Given the description of an element on the screen output the (x, y) to click on. 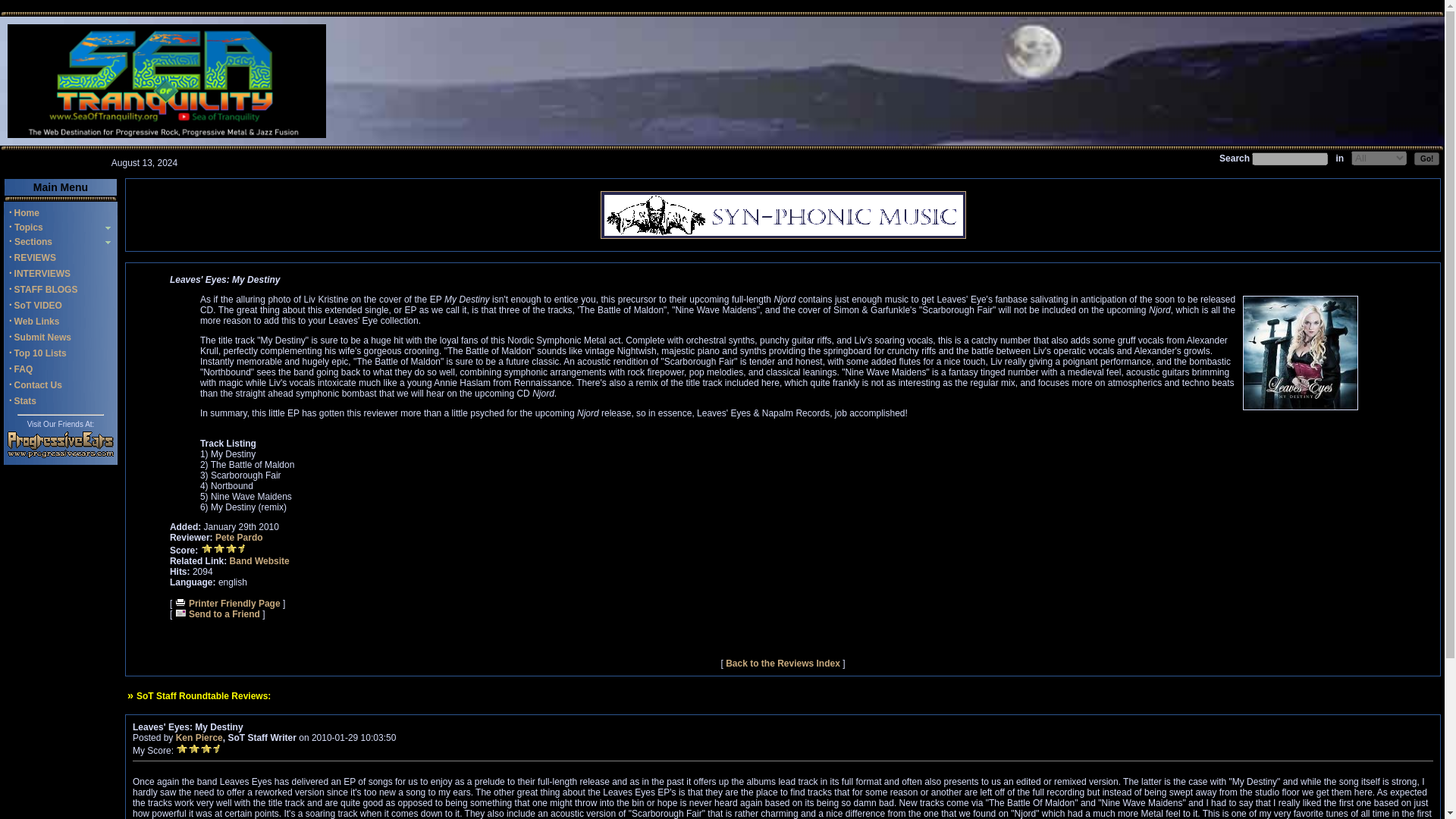
FAQ (23, 368)
Go! (1426, 158)
Pete Pardo (239, 537)
SoT VIDEO (38, 305)
Web Links (36, 321)
Contact Us (38, 385)
Stats (25, 400)
Topics (27, 226)
Top 10 Lists (40, 353)
Band Website (259, 561)
